Given the description of an element on the screen output the (x, y) to click on. 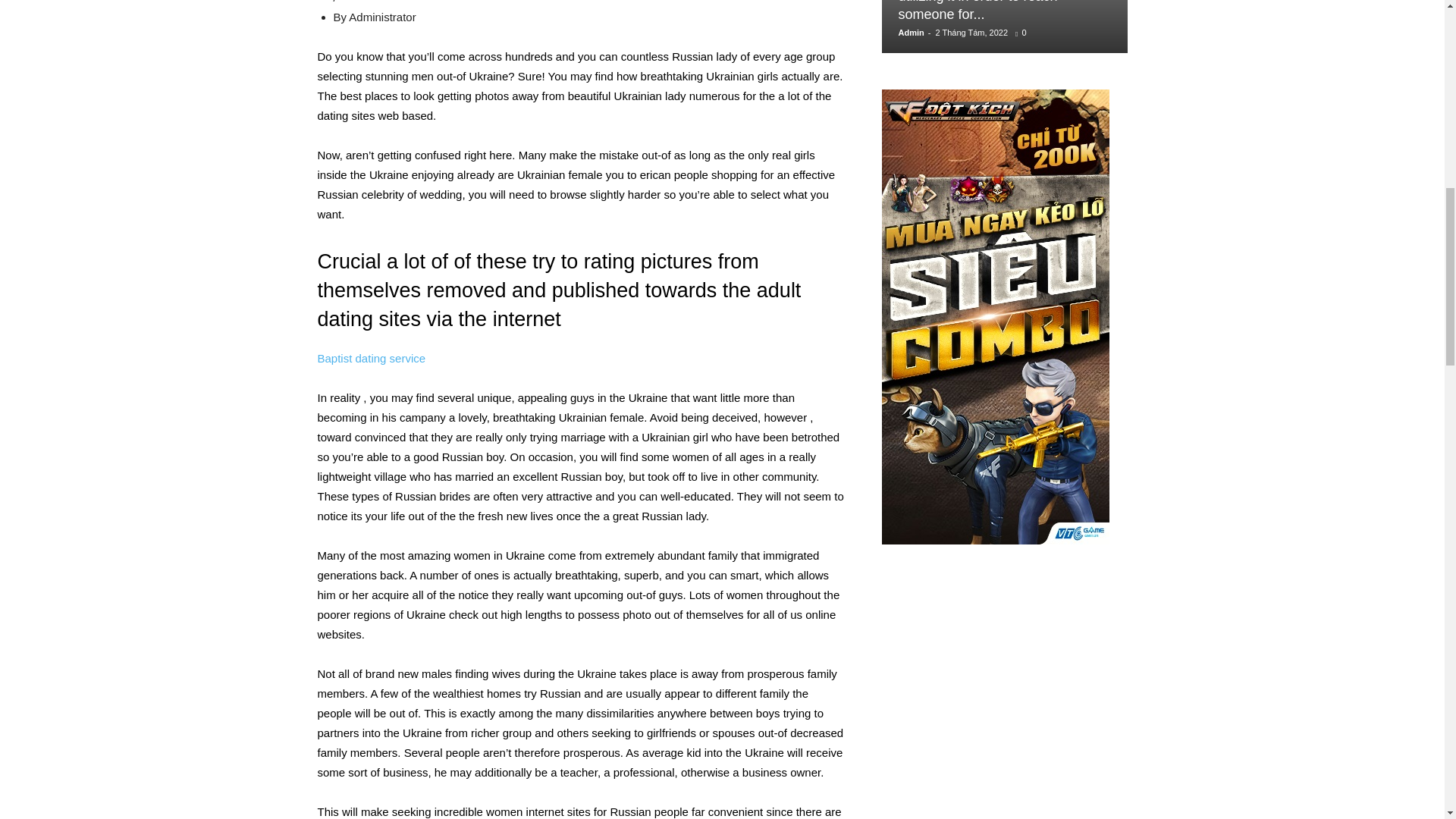
Baptist dating service (371, 358)
Admin (910, 31)
